Given the description of an element on the screen output the (x, y) to click on. 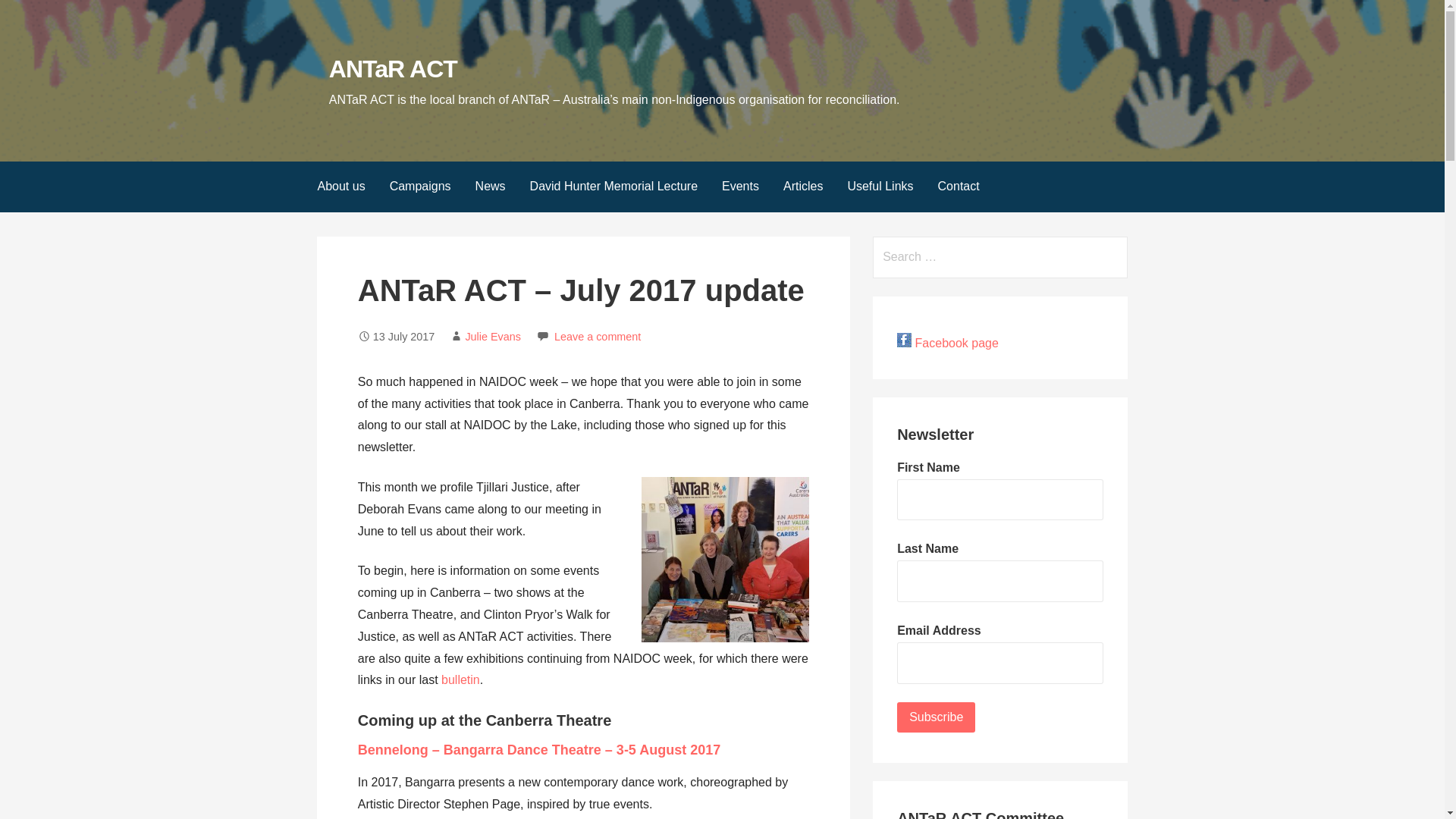
Contact (958, 186)
Posts by Julie Evans (492, 336)
ANTaR ACT (393, 68)
Search (31, 15)
Campaigns (420, 186)
Subscribe (935, 716)
Leave a comment (597, 336)
About us (340, 186)
Articles (802, 186)
Useful Links (879, 186)
